Given the description of an element on the screen output the (x, y) to click on. 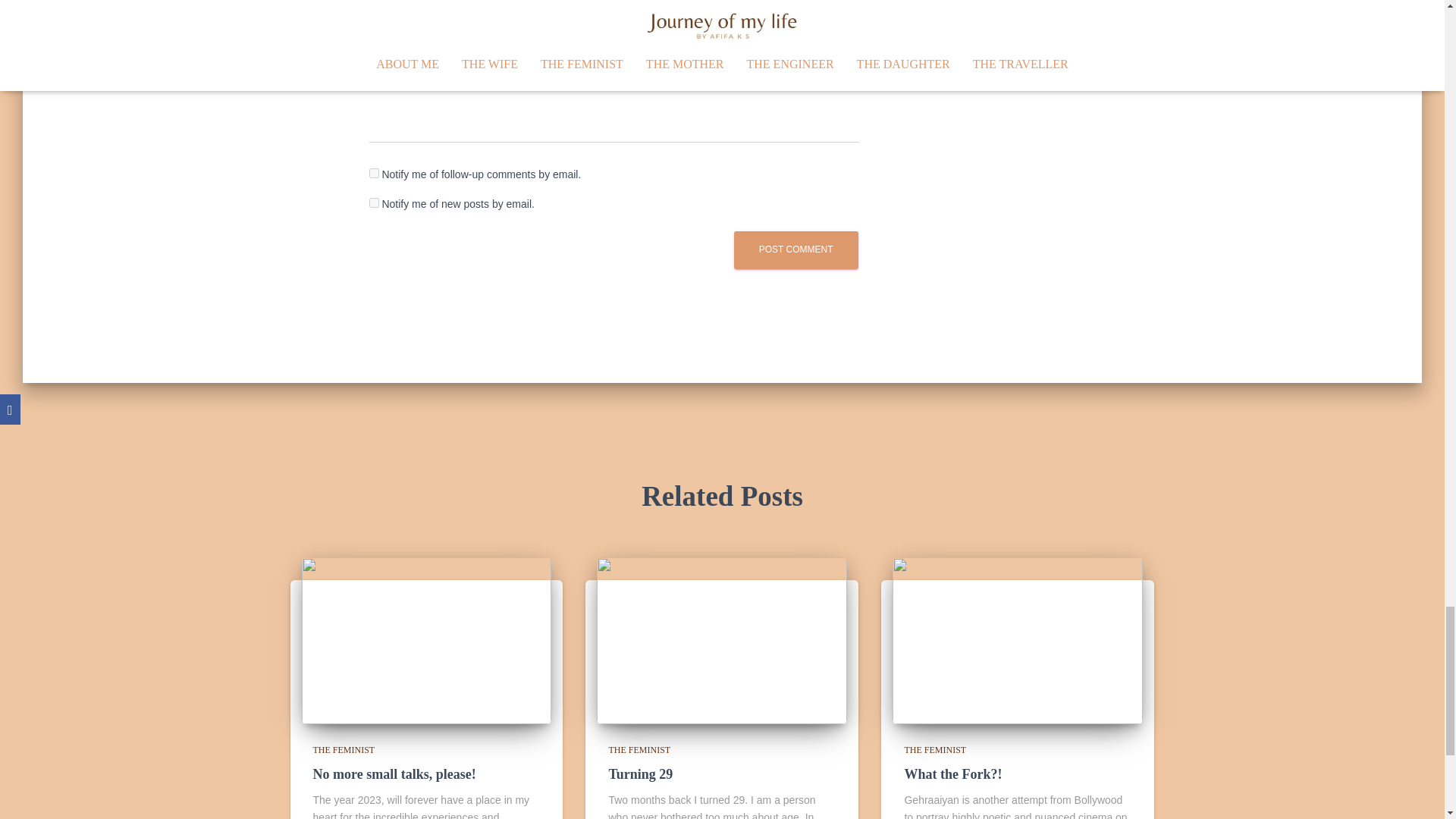
What the Fork?! (1017, 639)
Turning 29 (721, 639)
THE FEMINIST (638, 749)
Turning 29 (640, 774)
No more small talks, please! (394, 774)
View all posts in The Feminist (343, 749)
Turning 29 (640, 774)
THE FEMINIST (343, 749)
subscribe (373, 203)
THE FEMINIST (935, 749)
